Given the description of an element on the screen output the (x, y) to click on. 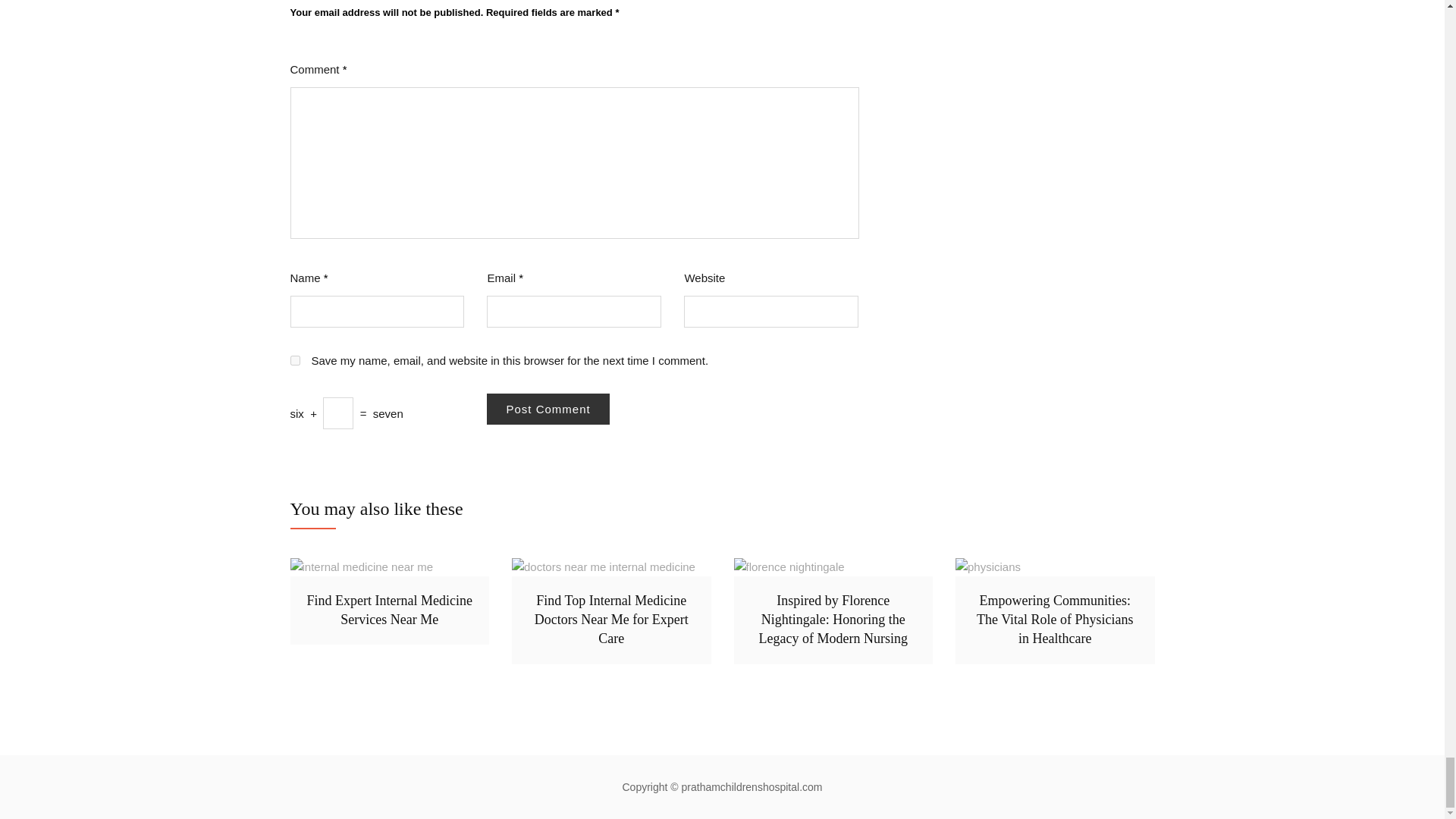
yes (294, 360)
Post Comment (547, 409)
